Given the description of an element on the screen output the (x, y) to click on. 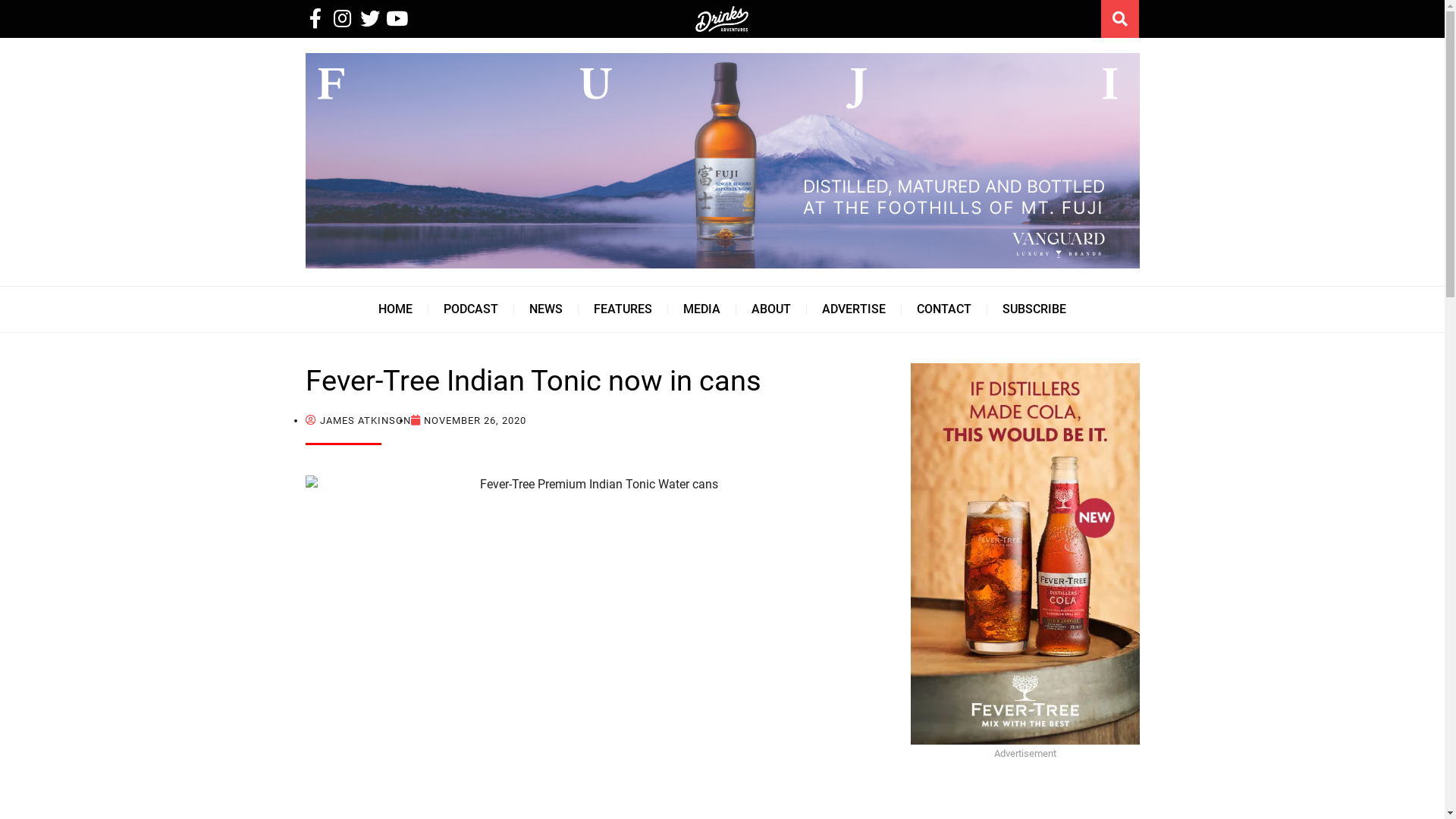
ADVERTISE Element type: text (853, 309)
ABOUT Element type: text (770, 309)
CONTACT Element type: text (943, 309)
NEWS Element type: text (545, 309)
FEATURES Element type: text (622, 309)
NOVEMBER 26, 2020 Element type: text (468, 420)
JAMES ATKINSON Element type: text (357, 420)
MEDIA Element type: text (701, 309)
HOME Element type: text (395, 309)
PODCAST Element type: text (470, 309)
SUBSCRIBE Element type: text (1034, 309)
